Given the description of an element on the screen output the (x, y) to click on. 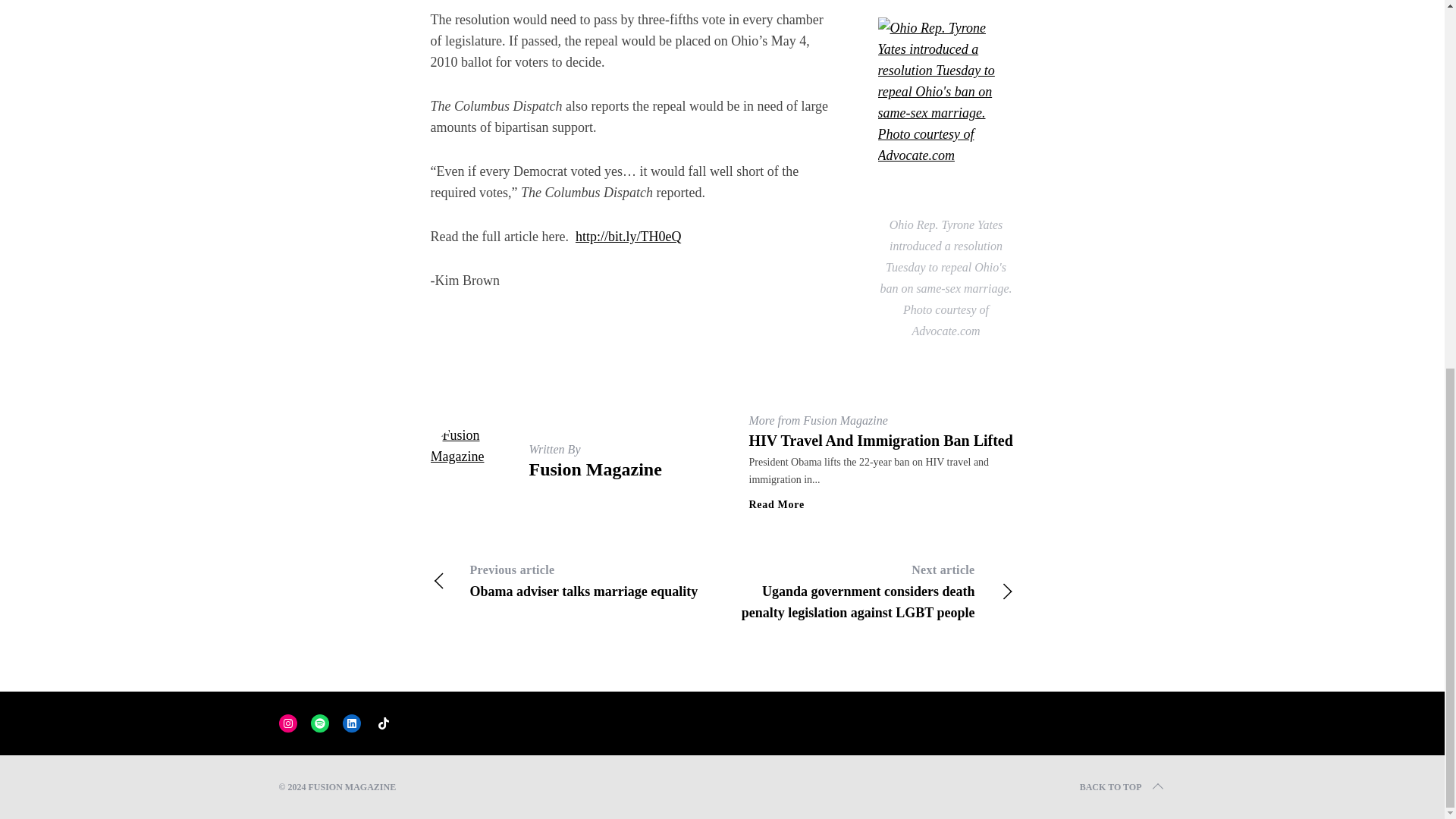
LinkedIn (351, 723)
Read More (777, 504)
HIV Travel And Immigration Ban Lifted (881, 440)
BACK TO TOP (1123, 787)
Fusion Magazine (576, 580)
TikTok (595, 469)
Instagram (383, 723)
Spotify (288, 723)
